Given the description of an element on the screen output the (x, y) to click on. 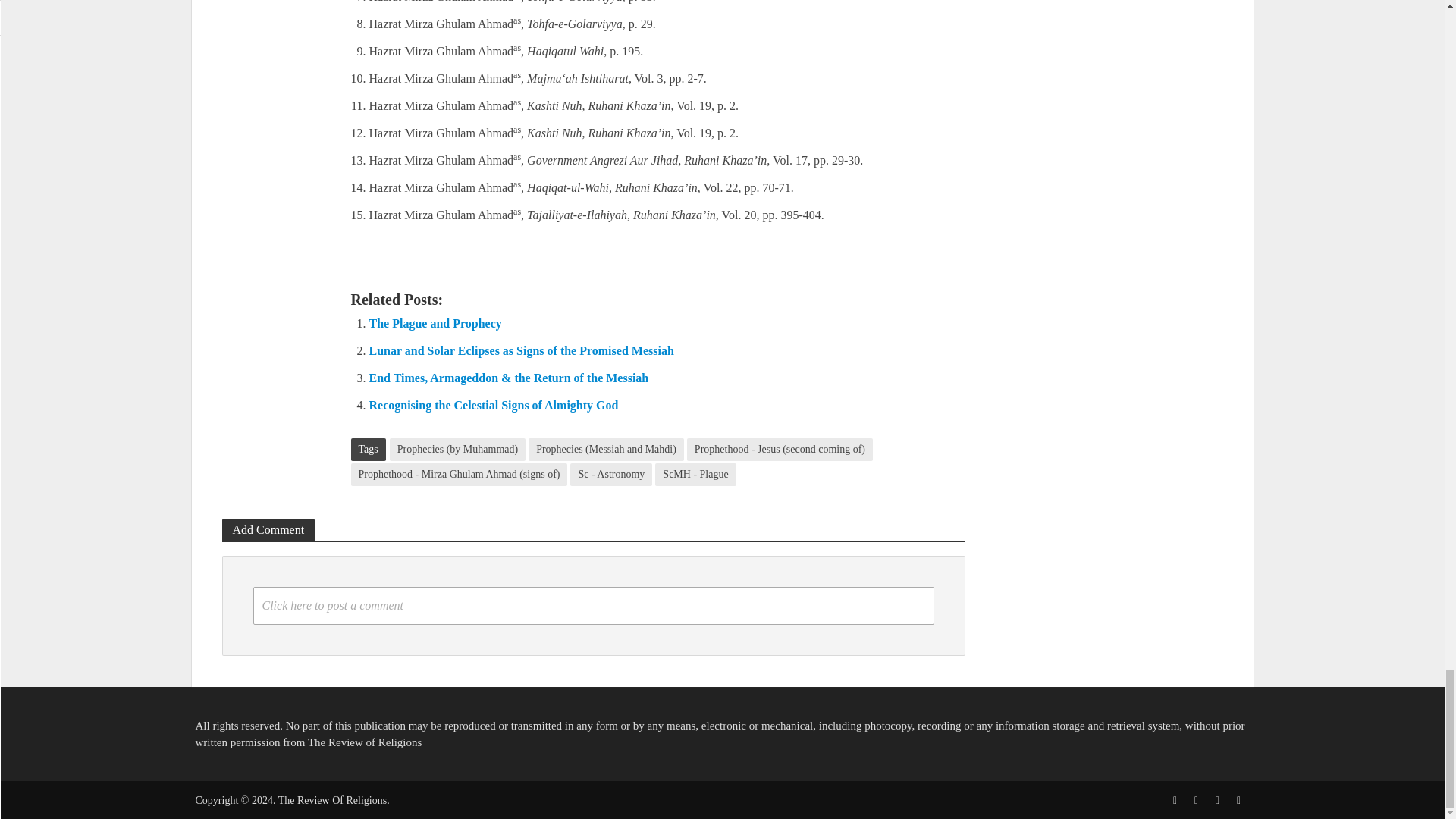
The Plague and Prophecy (434, 323)
Recognising the Celestial Signs of Almighty God (492, 404)
Lunar and Solar Eclipses as Signs of the Promised Messiah (520, 350)
